Given the description of an element on the screen output the (x, y) to click on. 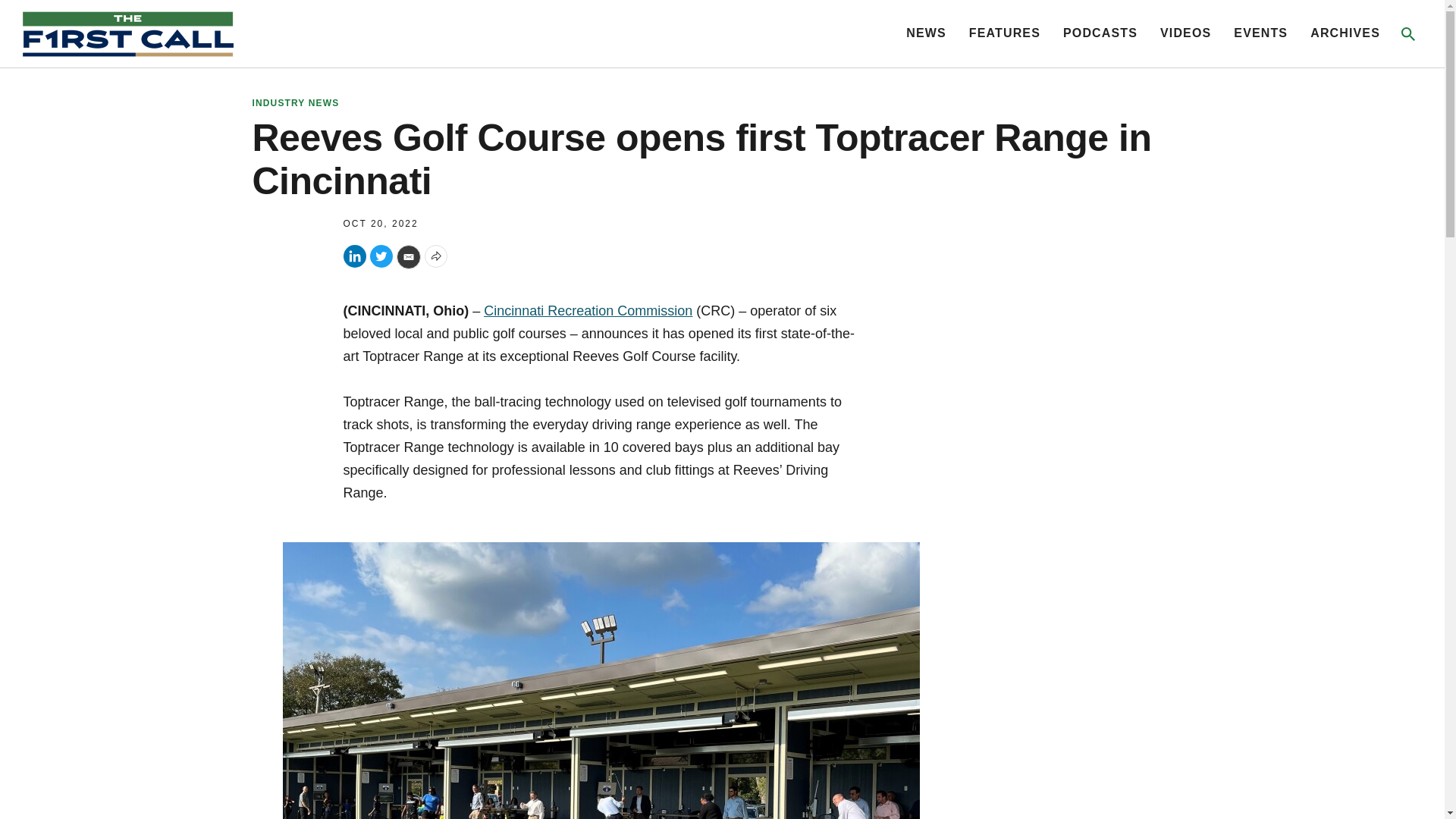
NEWS (925, 32)
EVENTS (1260, 32)
Show Search (1407, 33)
PODCASTS (1099, 32)
ARCHIVES (1345, 32)
INDUSTRY NEWS (718, 103)
Email (408, 256)
LinkedIn (353, 255)
Twitter (381, 255)
VIDEOS (1185, 32)
